Given the description of an element on the screen output the (x, y) to click on. 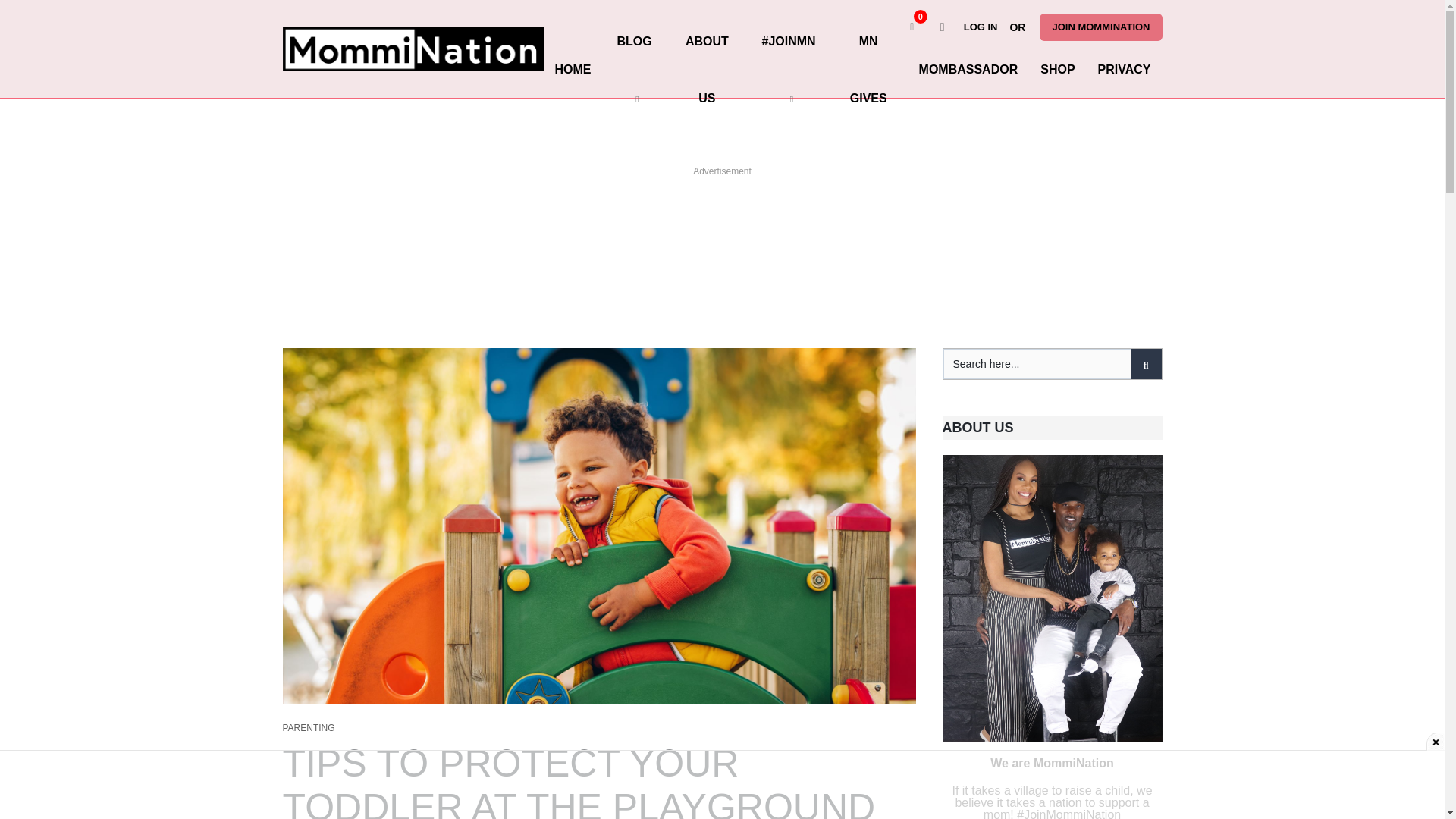
Search here... (1052, 363)
0 (911, 26)
MOMBASSADOR (968, 68)
JOIN MOMMINATION (1100, 26)
SHOP (1057, 68)
LOG IN (984, 26)
3rd party ad content (721, 210)
MommiNation (412, 48)
HOME (572, 68)
3rd party ad content (721, 785)
